Given the description of an element on the screen output the (x, y) to click on. 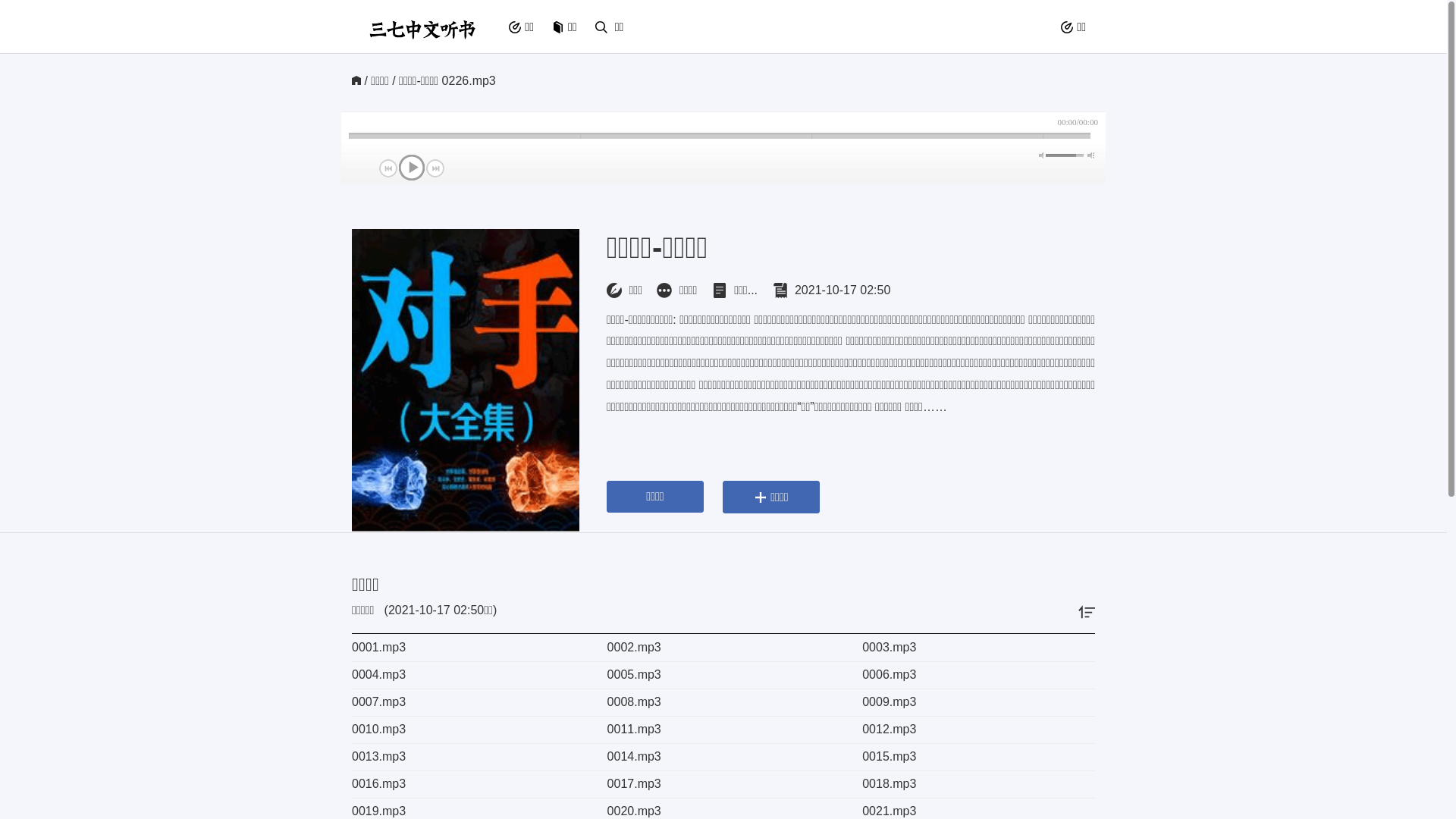
0007.mp3 Element type: text (461, 701)
0014.mp3 Element type: text (716, 756)
0001.mp3 Element type: text (461, 647)
0016.mp3 Element type: text (461, 783)
0006.mp3 Element type: text (971, 674)
0005.mp3 Element type: text (716, 674)
0010.mp3 Element type: text (461, 729)
0009.mp3 Element type: text (971, 701)
0012.mp3 Element type: text (971, 729)
0003.mp3 Element type: text (971, 647)
0017.mp3 Element type: text (716, 783)
0013.mp3 Element type: text (461, 756)
0002.mp3 Element type: text (716, 647)
0015.mp3 Element type: text (971, 756)
0004.mp3 Element type: text (461, 674)
0018.mp3 Element type: text (971, 783)
0011.mp3 Element type: text (716, 729)
0008.mp3 Element type: text (716, 701)
